Given the description of an element on the screen output the (x, y) to click on. 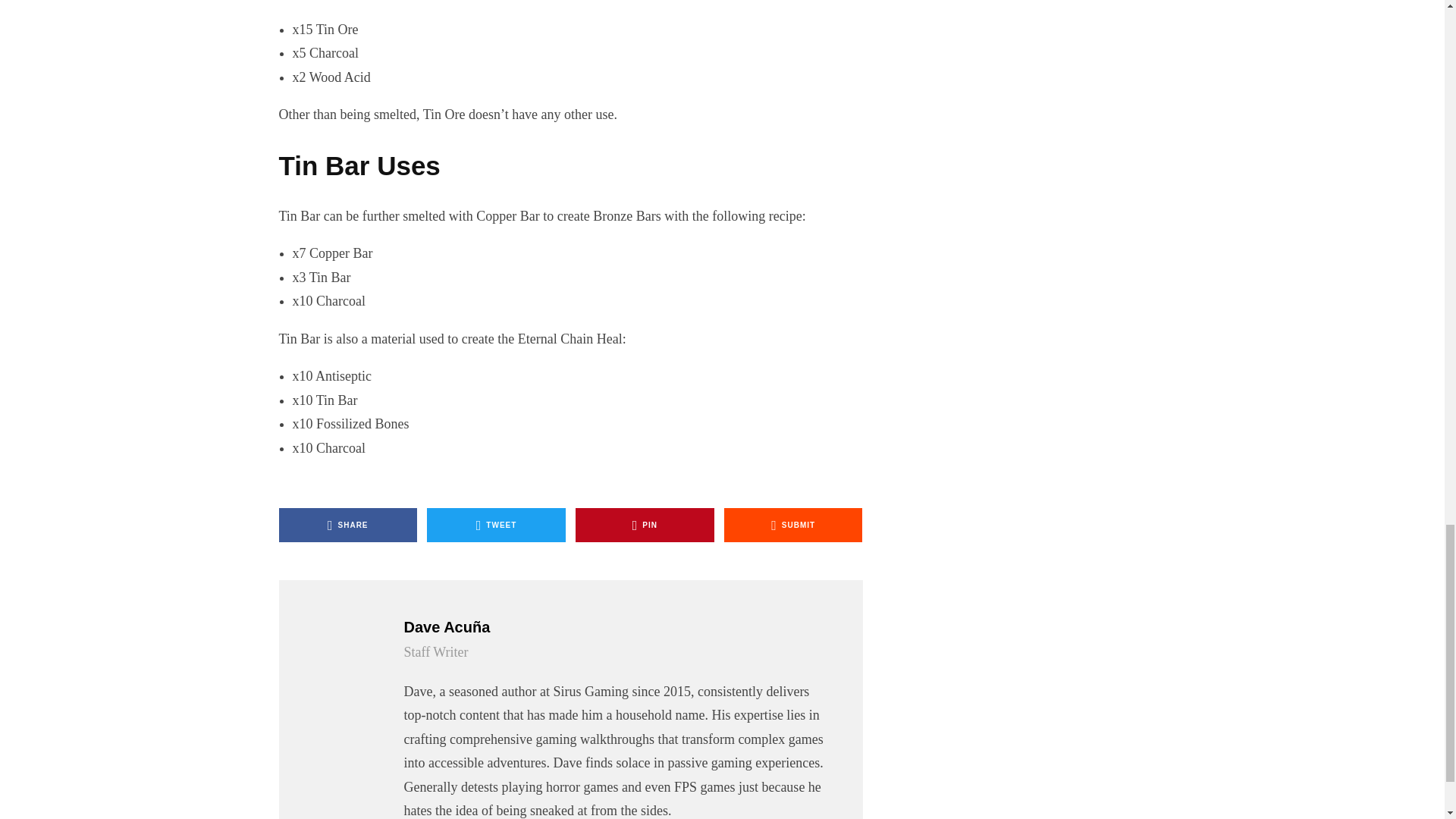
SUBMIT (793, 524)
TWEET (496, 524)
SHARE (348, 524)
PIN (644, 524)
